Given the description of an element on the screen output the (x, y) to click on. 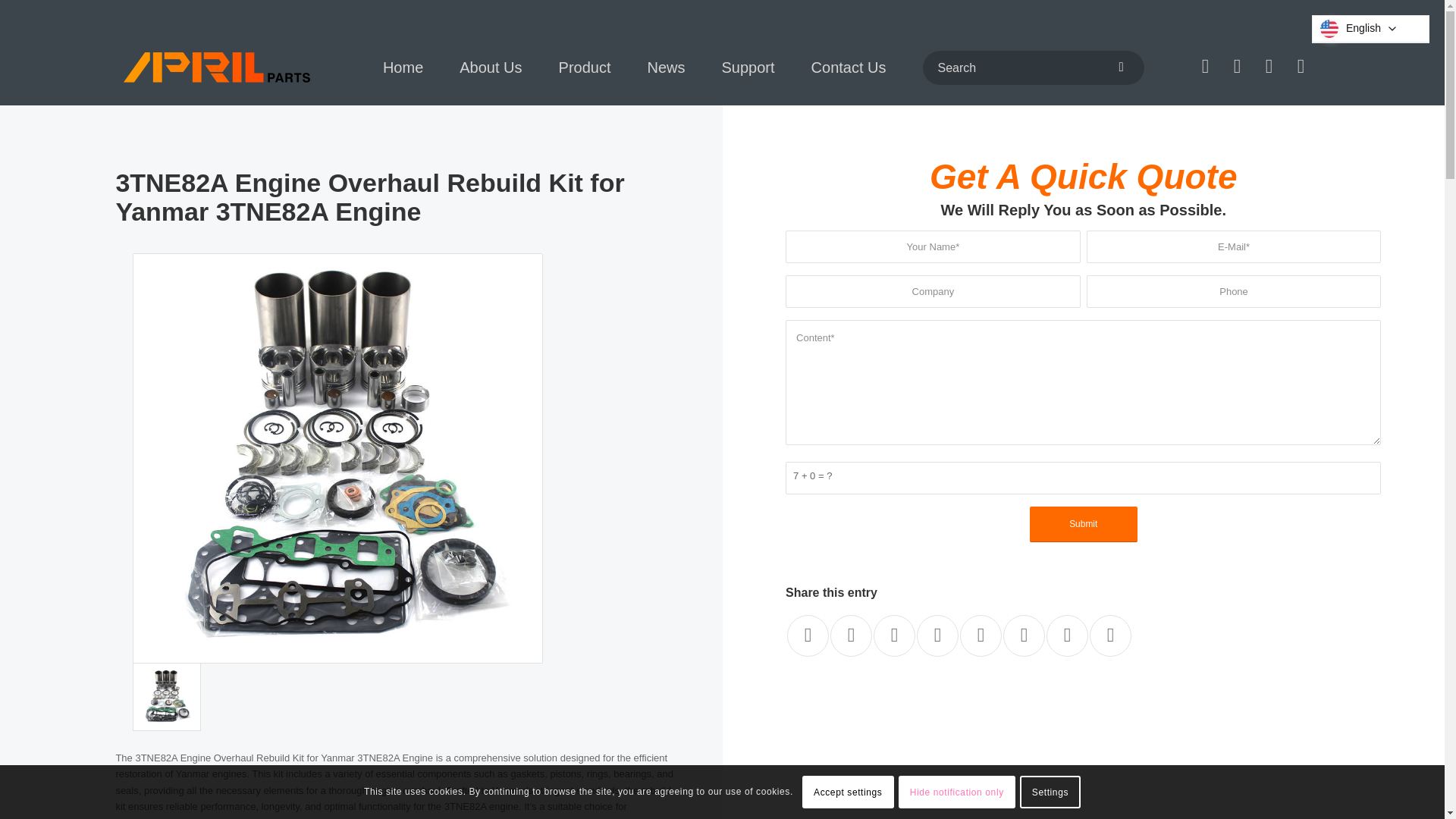
About Us (490, 67)
Home (403, 67)
Youtube (1204, 66)
Submit (1083, 524)
Product (584, 67)
Support (748, 67)
WhatsApp (1236, 66)
3TNE82A engine rebuild kit01 (166, 696)
News (665, 67)
